Given the description of an element on the screen output the (x, y) to click on. 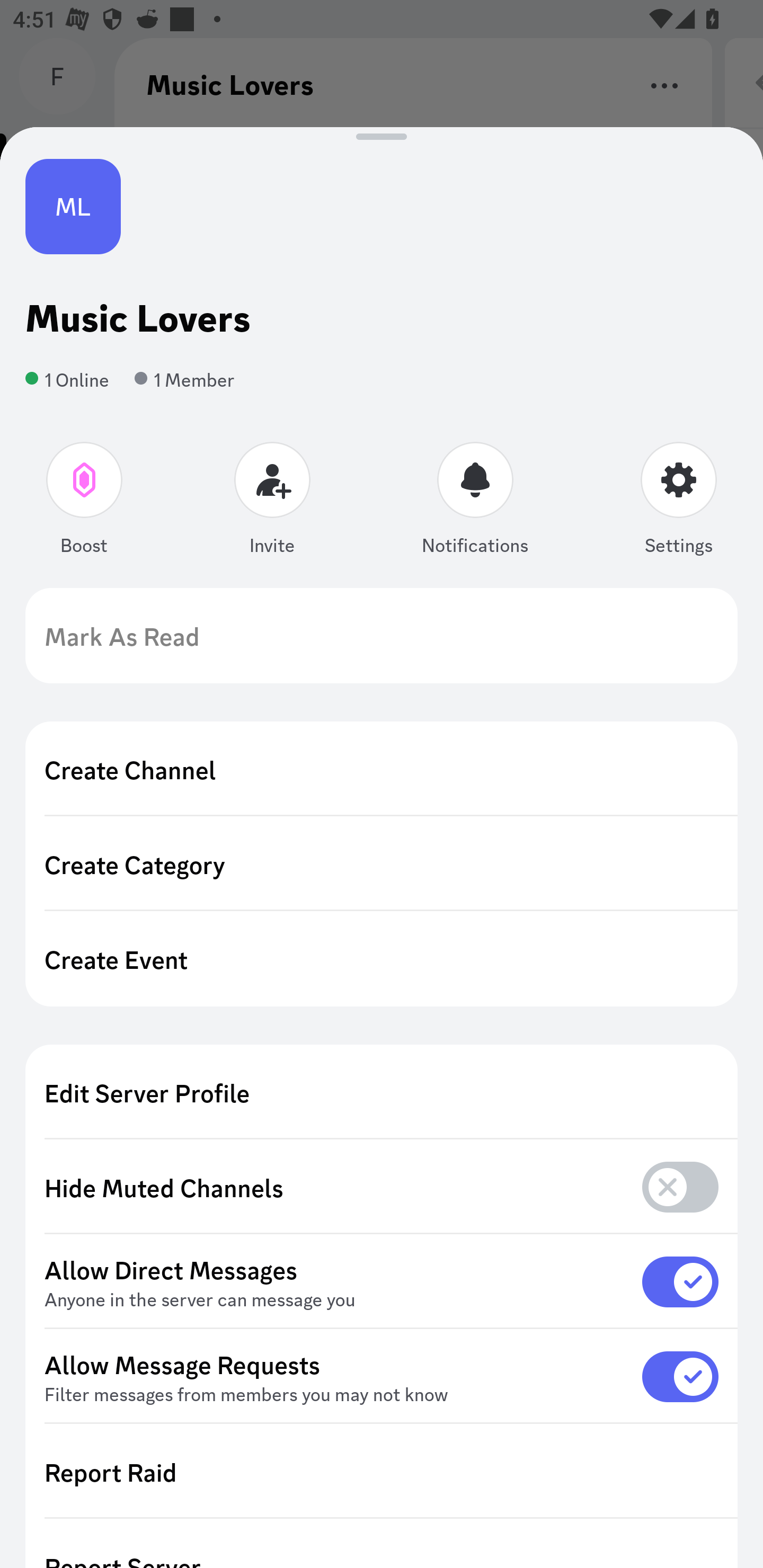
Boost (84, 502)
Invite (272, 502)
Notifications (475, 502)
Settings (678, 502)
Mark As Read (381, 635)
Create Channel (381, 768)
Create Category (381, 863)
Create Event (381, 958)
Edit Server Profile (381, 1091)
off Hide Muted Channels,  Hide Muted Channels off (381, 1187)
off (680, 1186)
on (680, 1281)
on (680, 1376)
Report Raid (381, 1471)
